Given the description of an element on the screen output the (x, y) to click on. 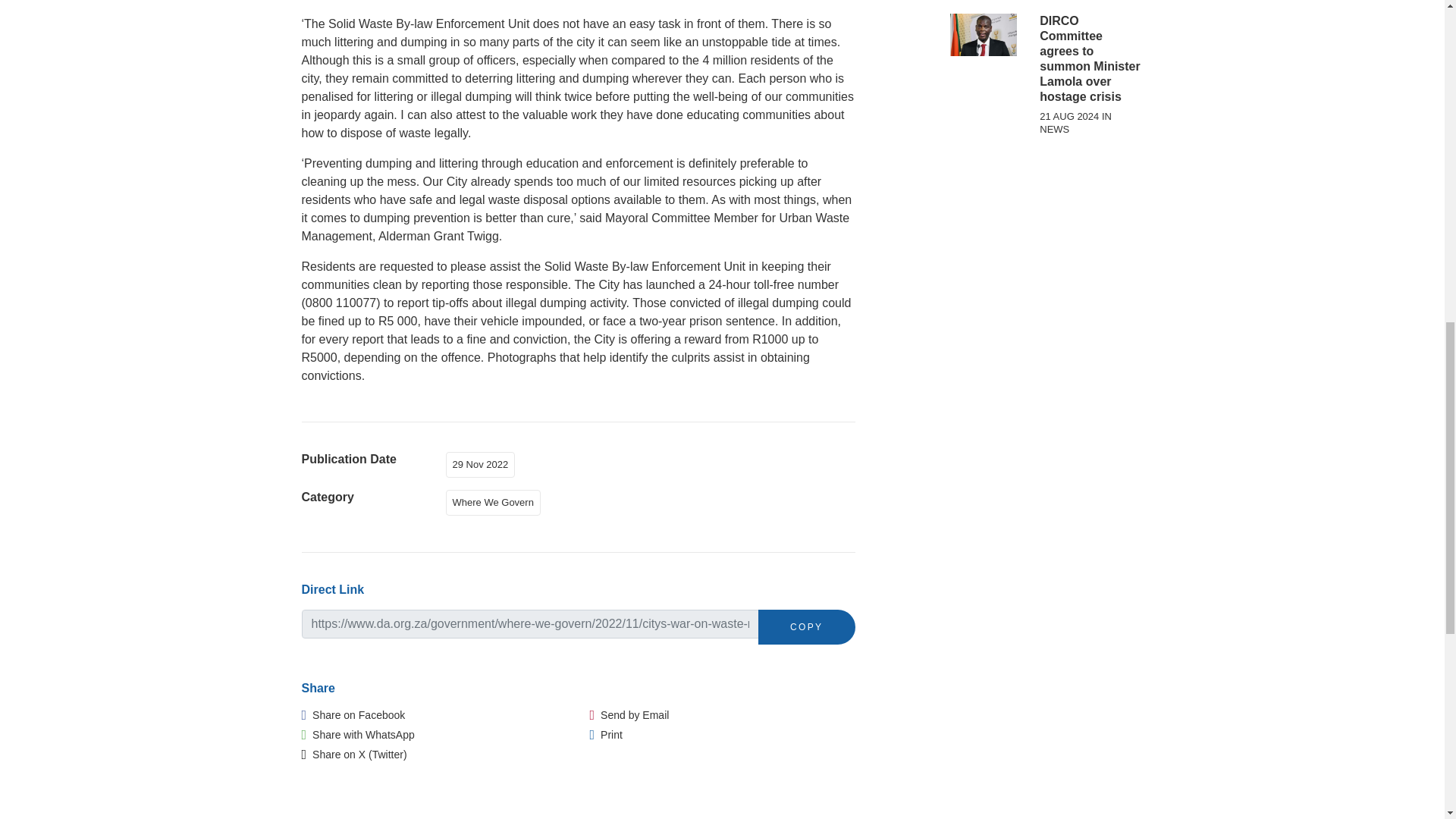
Send by Email (629, 714)
Share with WhatsApp (357, 735)
Share on Facebook (353, 714)
COPY (807, 626)
Where We Govern (496, 500)
